Given the description of an element on the screen output the (x, y) to click on. 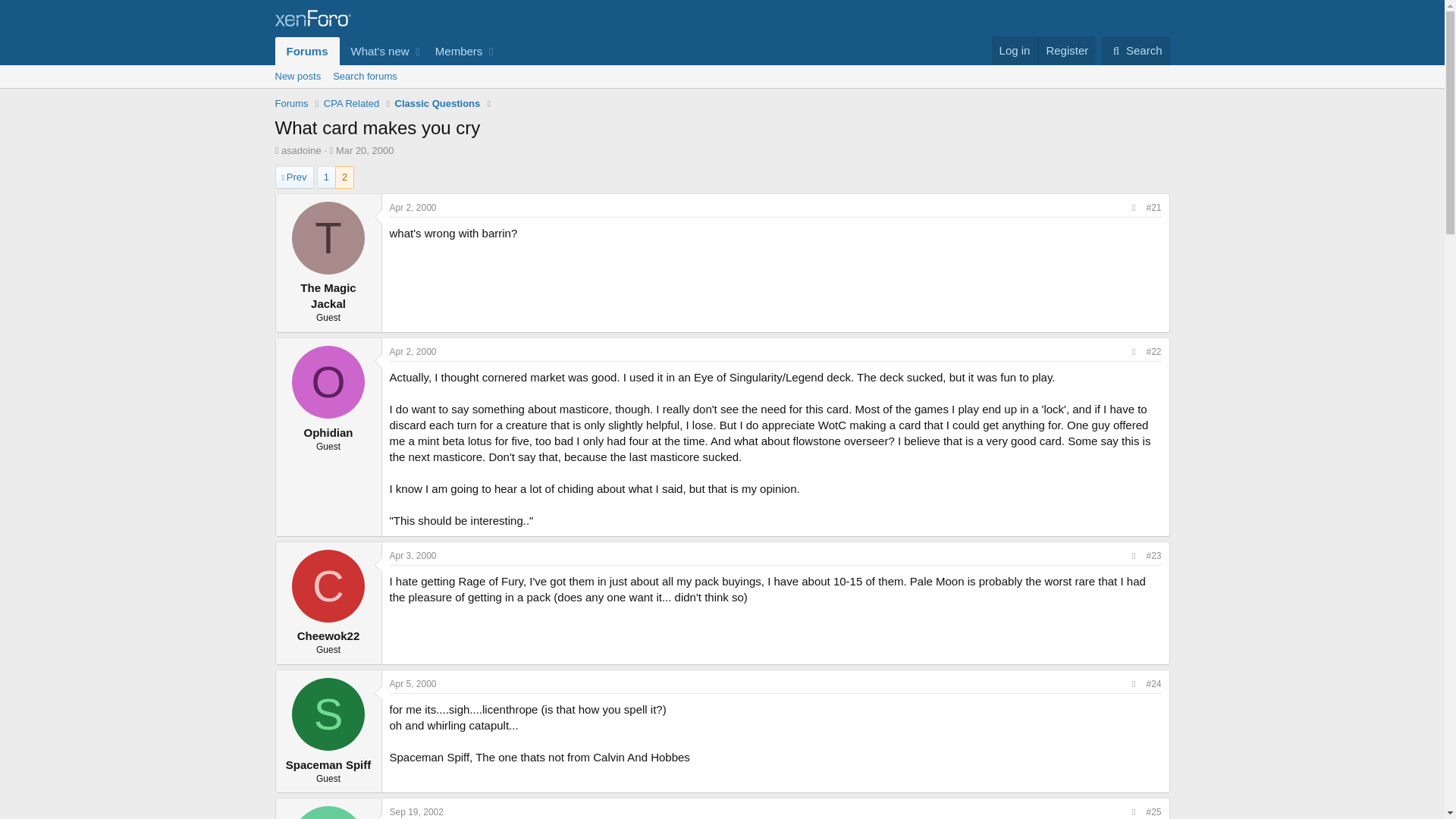
Register (1066, 50)
Forums (291, 103)
Mar 20, 2000 at 3:22 PM (365, 150)
Search (1136, 50)
Prev (294, 177)
Sep 19, 2002 at 3:33 PM (417, 811)
Apr 2, 2000 (413, 207)
Classic Questions (437, 103)
CPA Related (350, 103)
What's new (375, 50)
